Given the description of an element on the screen output the (x, y) to click on. 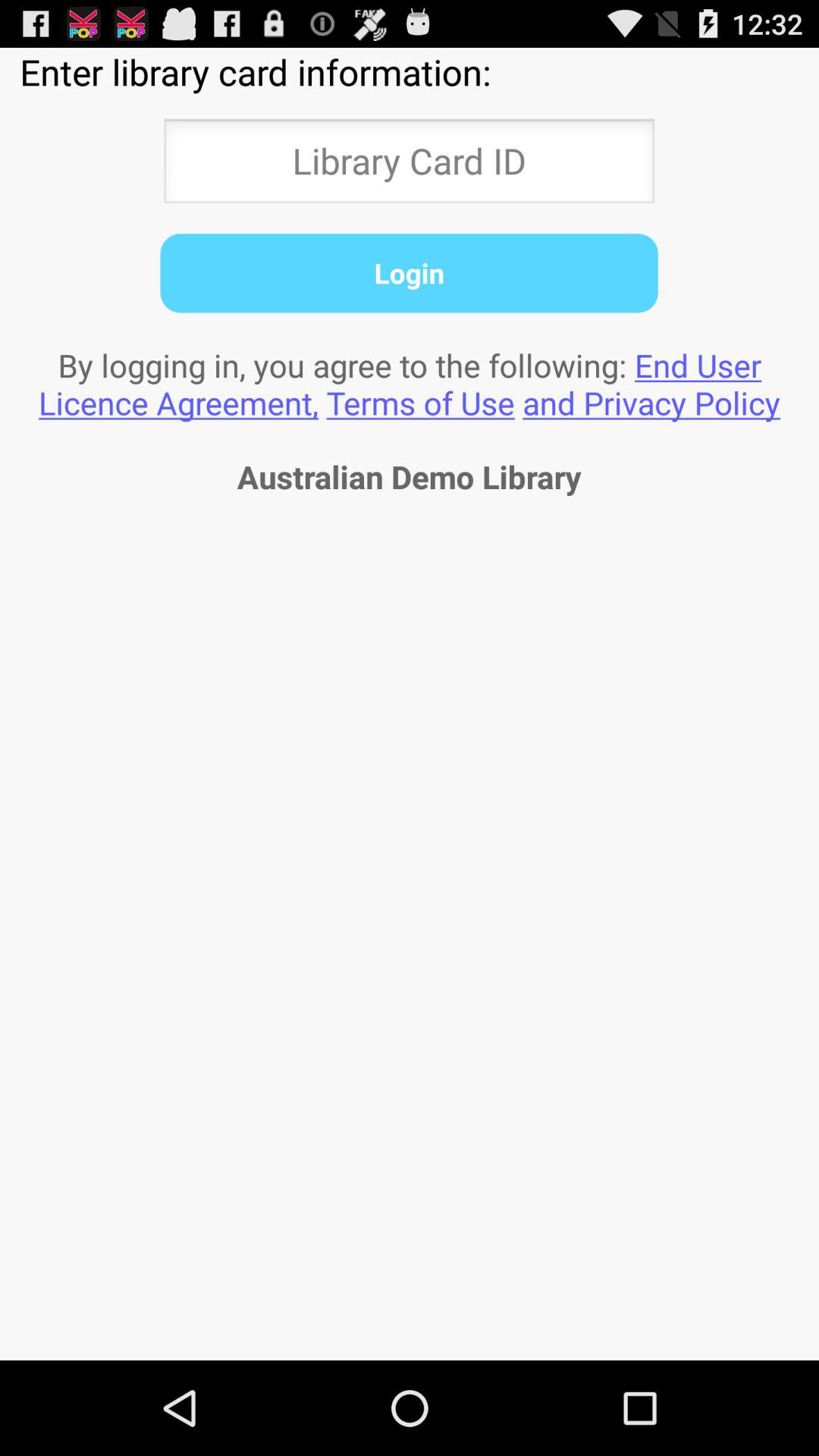
select item above the australian demo library icon (409, 383)
